Given the description of an element on the screen output the (x, y) to click on. 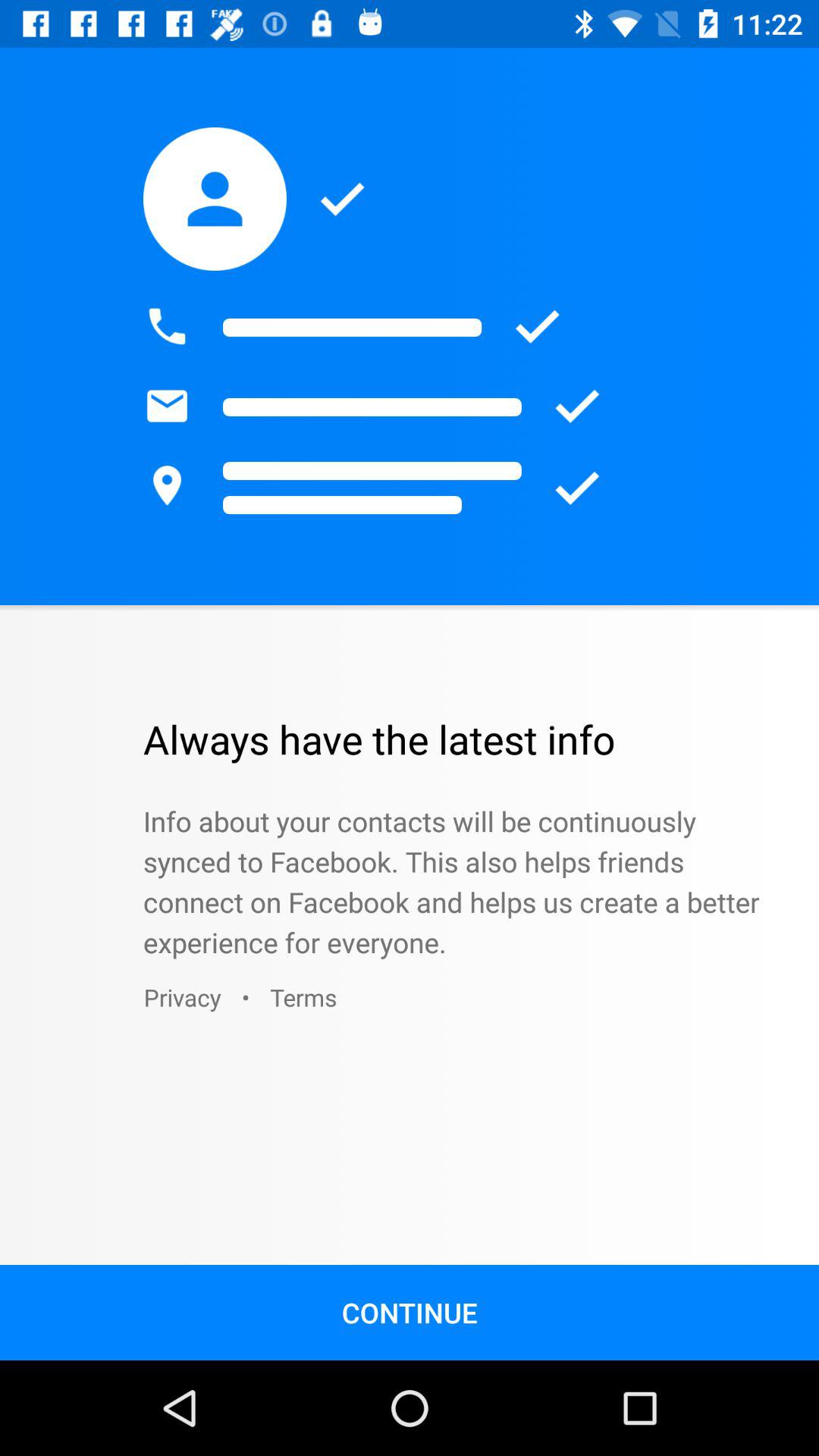
turn off item above continue (303, 997)
